Given the description of an element on the screen output the (x, y) to click on. 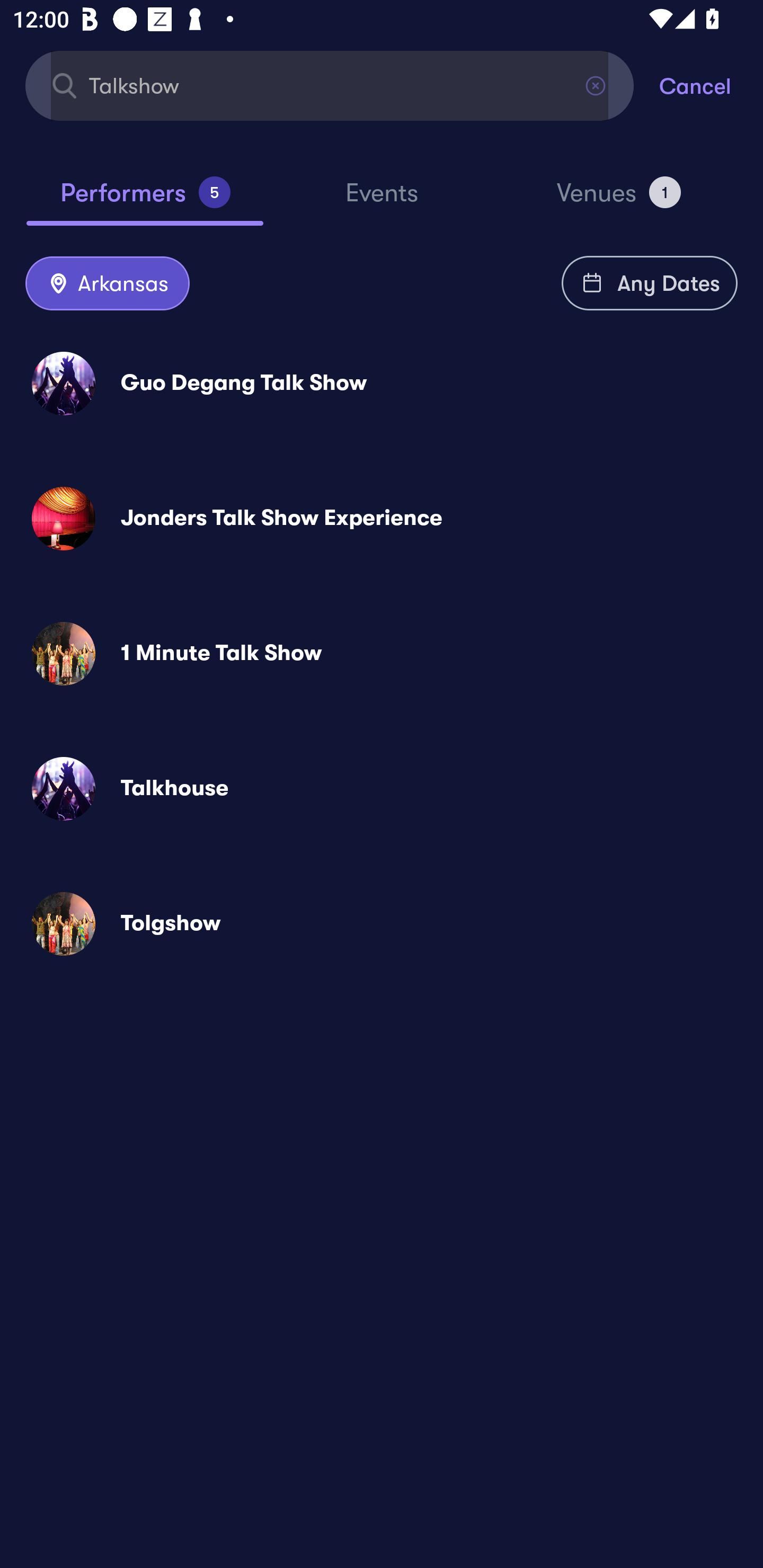
Talkshow Find (329, 85)
Talkshow Find (329, 85)
Cancel (711, 85)
Performers 5 (144, 200)
Venues 1 (618, 200)
Events (381, 201)
Any Dates (649, 282)
Arkansas (107, 283)
Guo Degang Talk Show (381, 383)
Jonders Talk Show Experience (381, 518)
1 Minute Talk Show (381, 652)
Talkhouse (381, 788)
Tolgshow (381, 924)
